Given the description of an element on the screen output the (x, y) to click on. 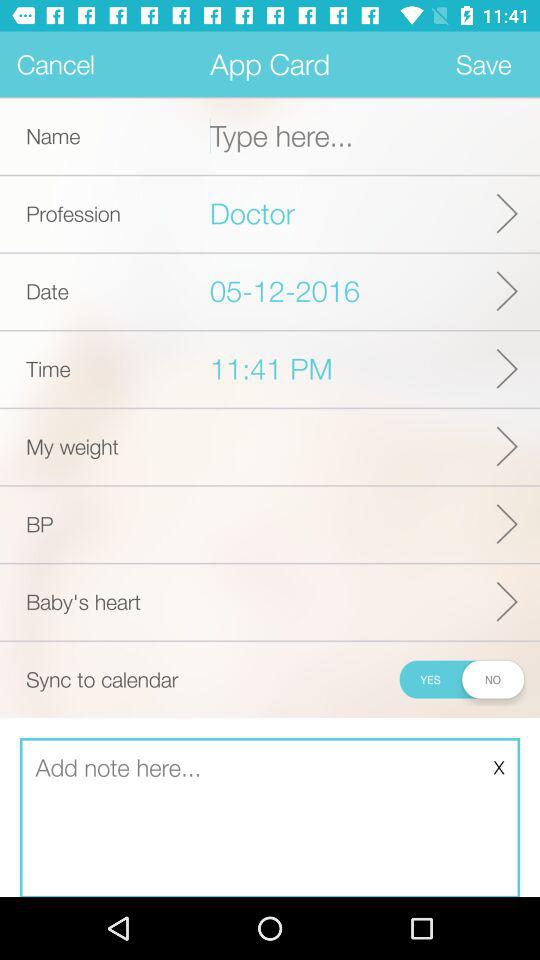
tap the save button (483, 63)
